Given the description of an element on the screen output the (x, y) to click on. 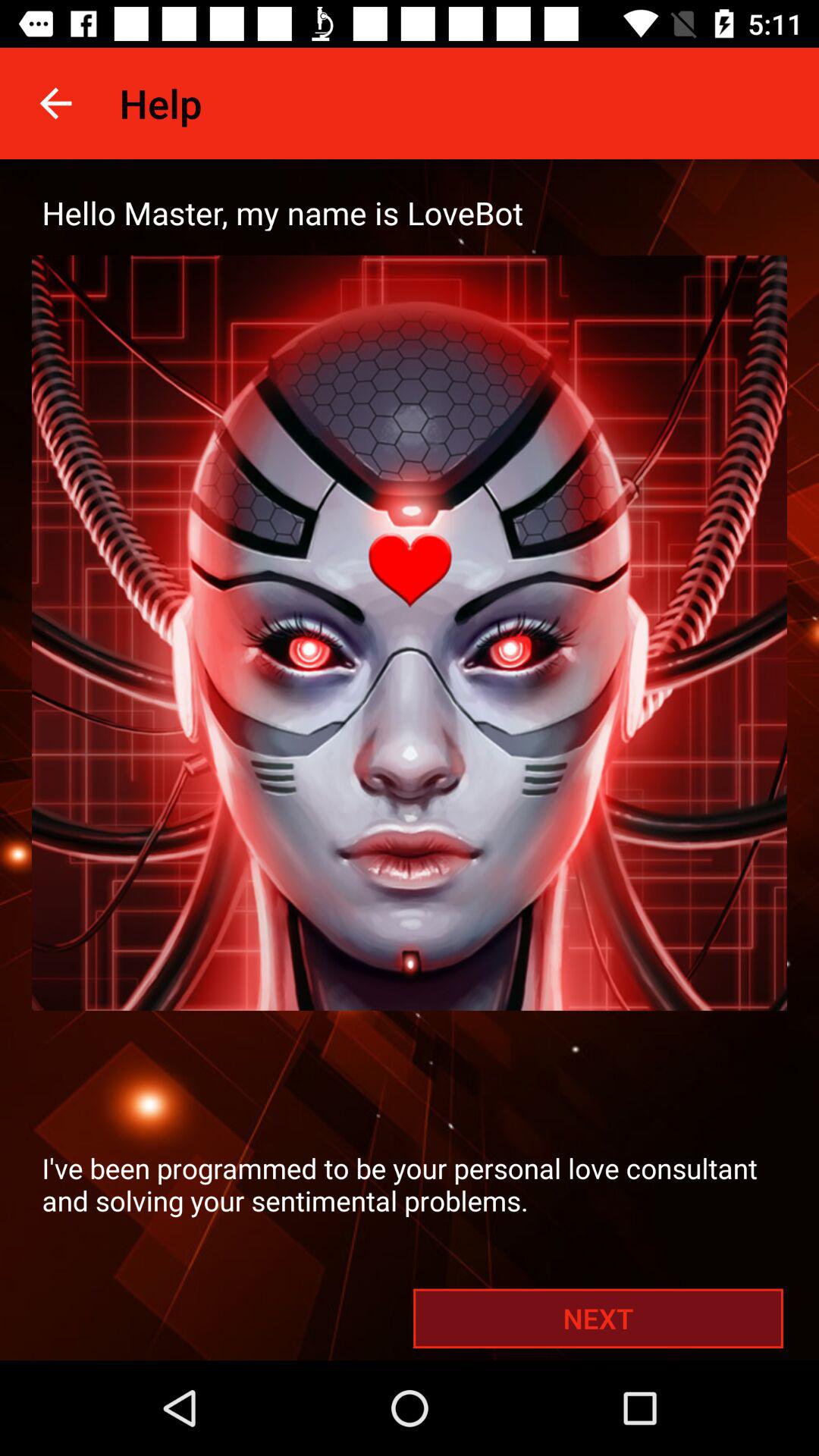
choose item next to the help item (55, 103)
